Given the description of an element on the screen output the (x, y) to click on. 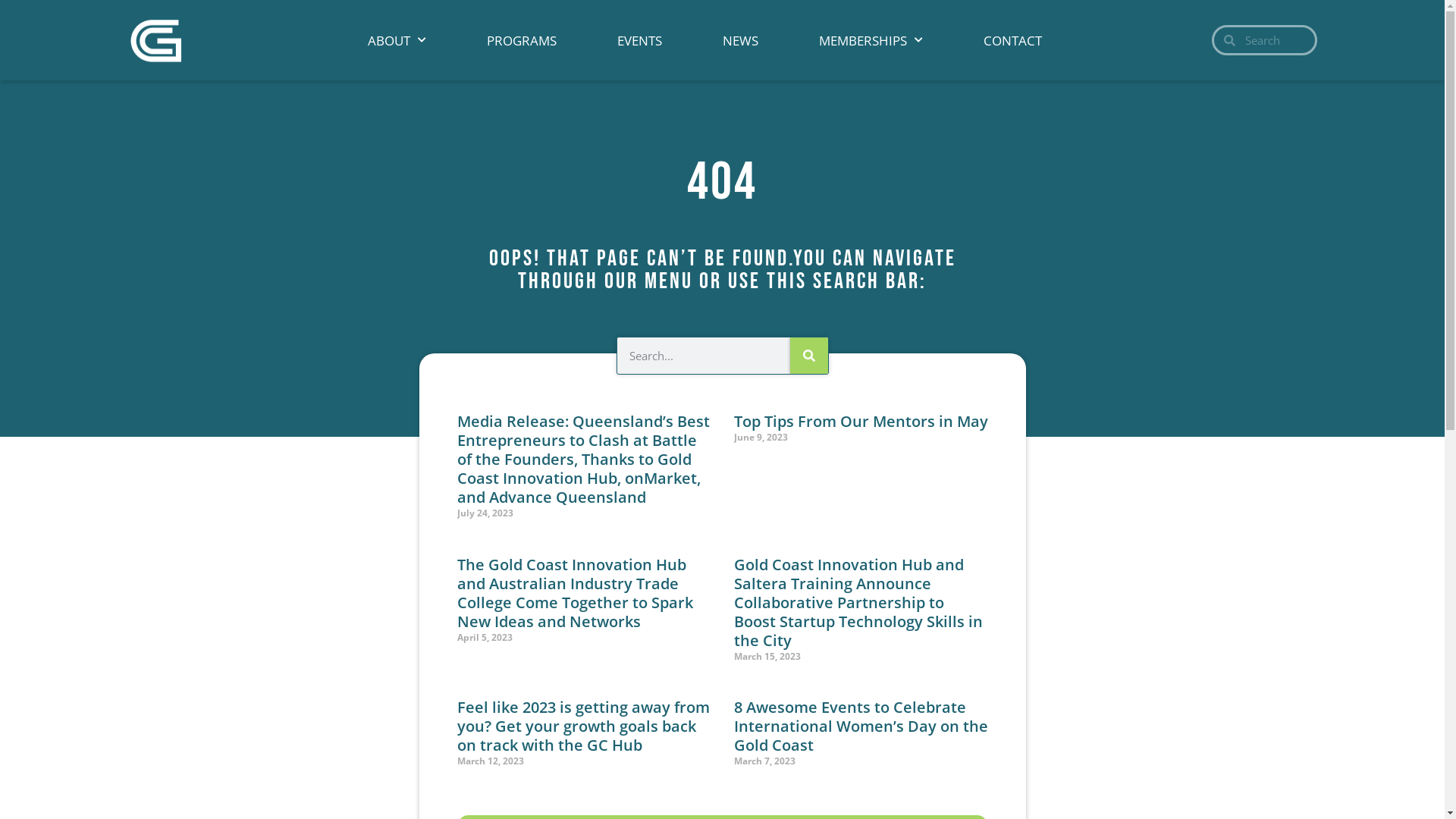
Top Tips From Our Mentors in May Element type: text (861, 421)
ABOUT Element type: text (396, 40)
NEWS Element type: text (740, 40)
EVENTS Element type: text (639, 40)
MEMBERSHIPS Element type: text (870, 40)
PROGRAMS Element type: text (521, 40)
CONTACT Element type: text (1012, 40)
